Given the description of an element on the screen output the (x, y) to click on. 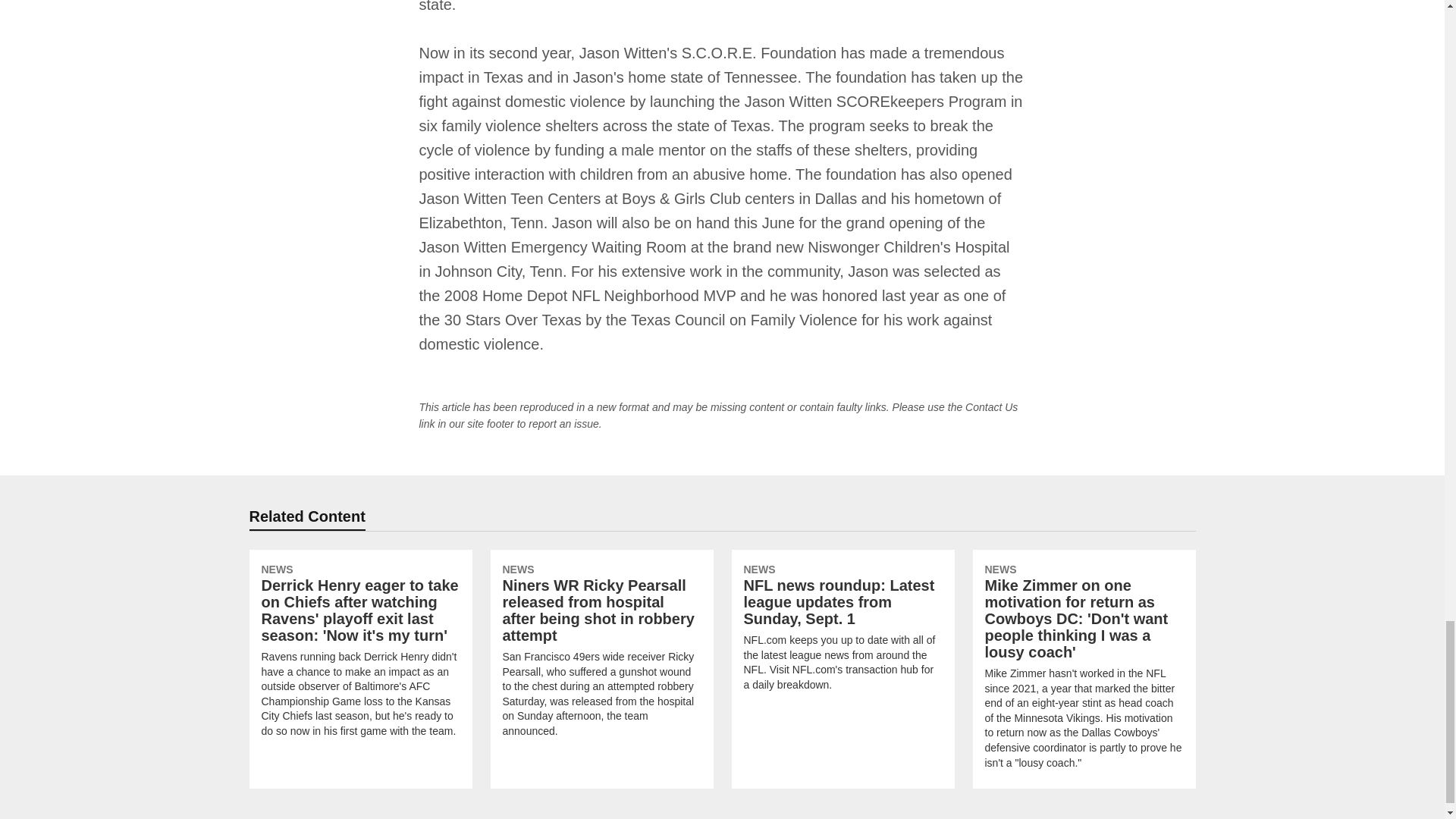
NFL news roundup: Latest league updates from Sunday, Sept. 1 (841, 630)
